Given the description of an element on the screen output the (x, y) to click on. 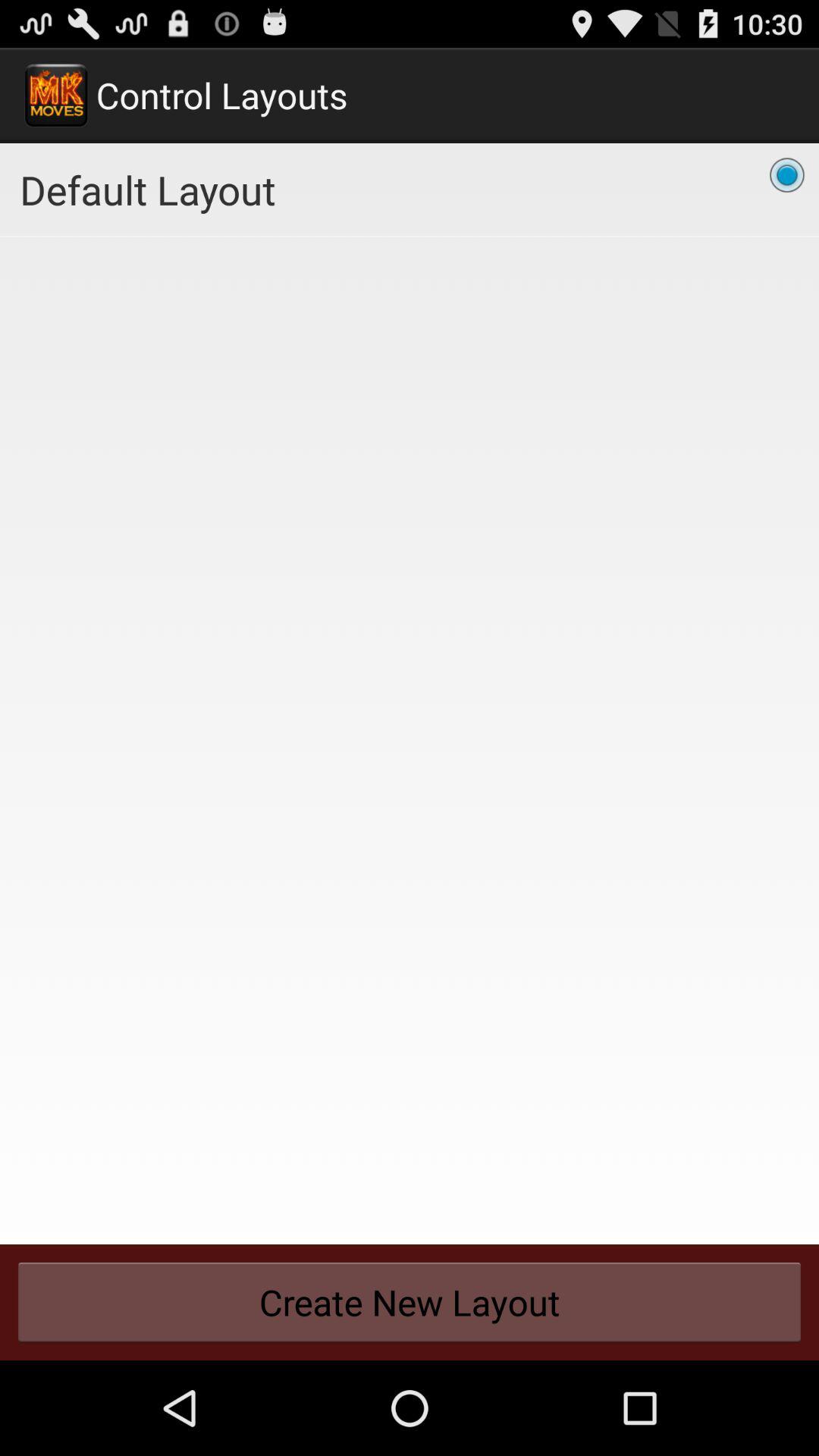
turn on default layout item (409, 189)
